Given the description of an element on the screen output the (x, y) to click on. 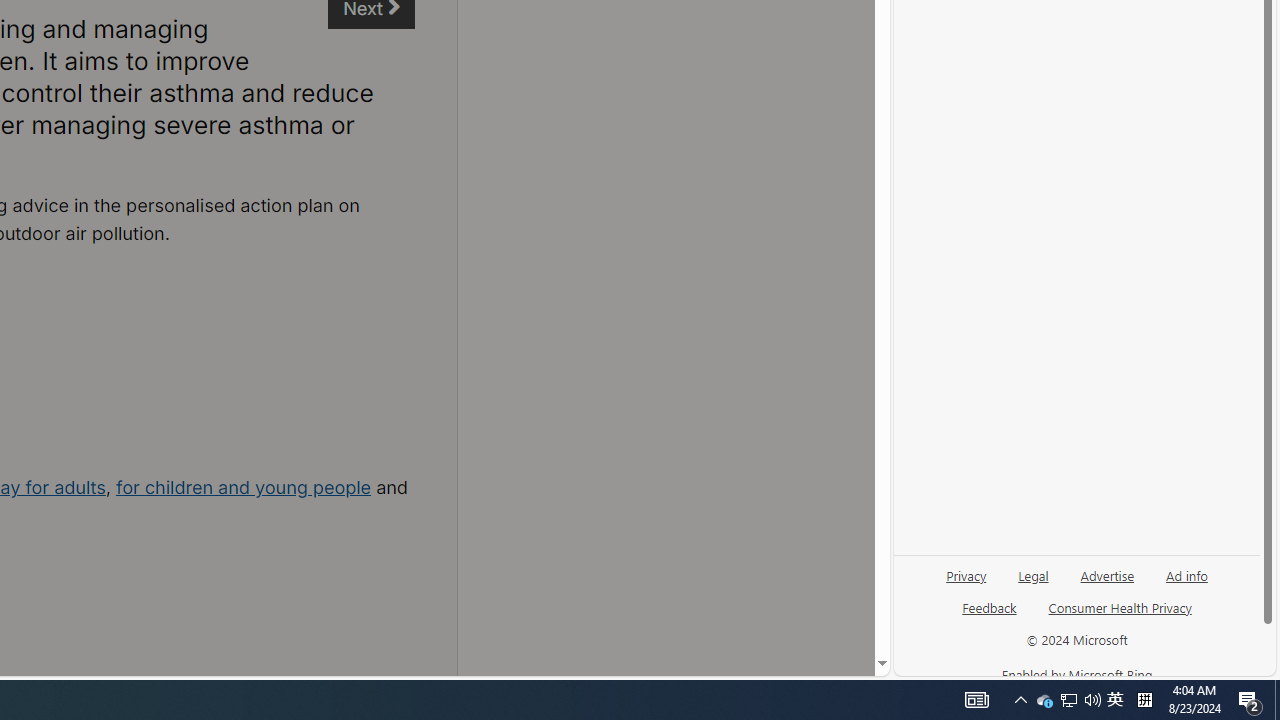
for children and young people (244, 487)
